Given the description of an element on the screen output the (x, y) to click on. 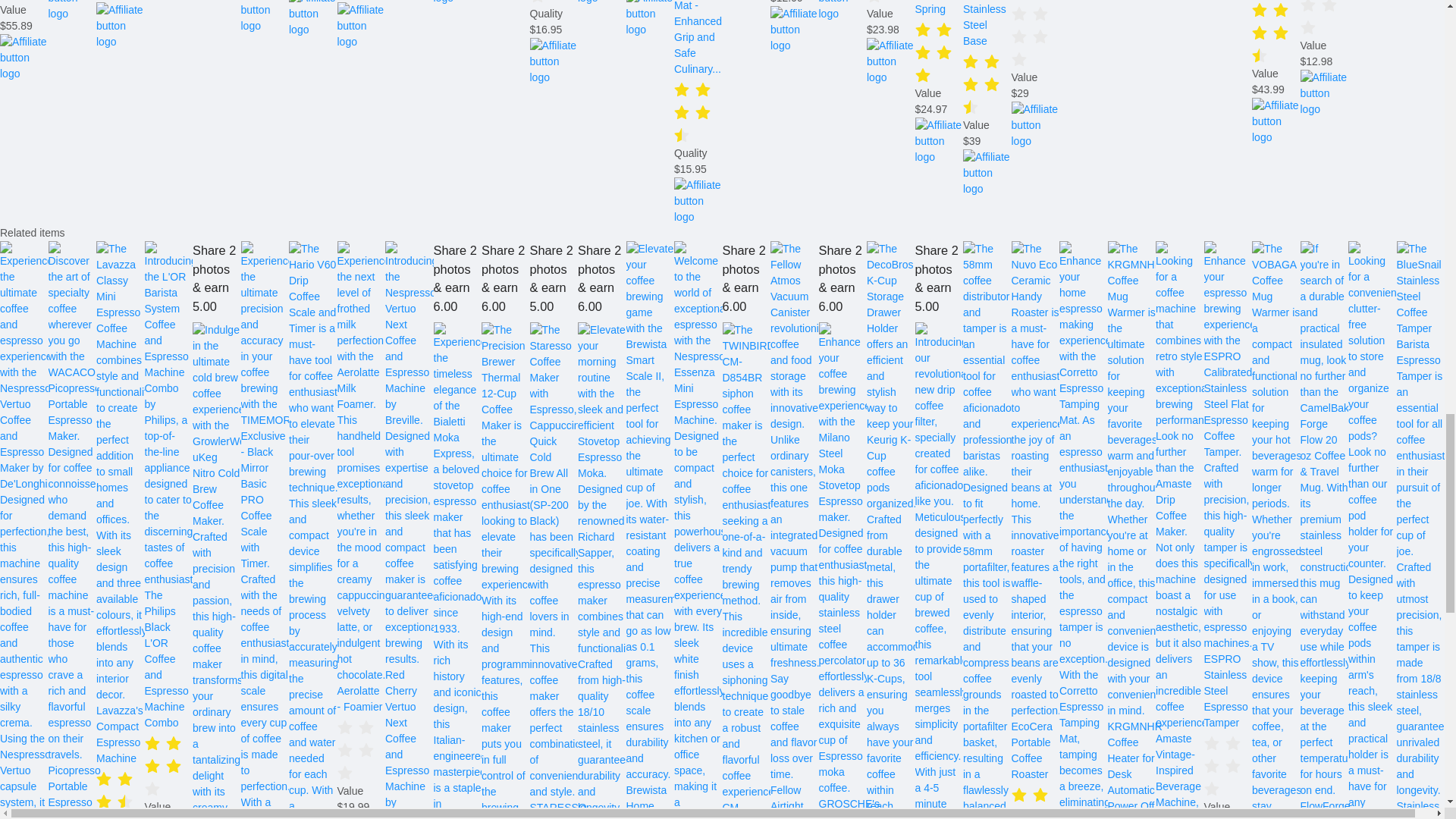
5 (24, 1)
